Given the description of an element on the screen output the (x, y) to click on. 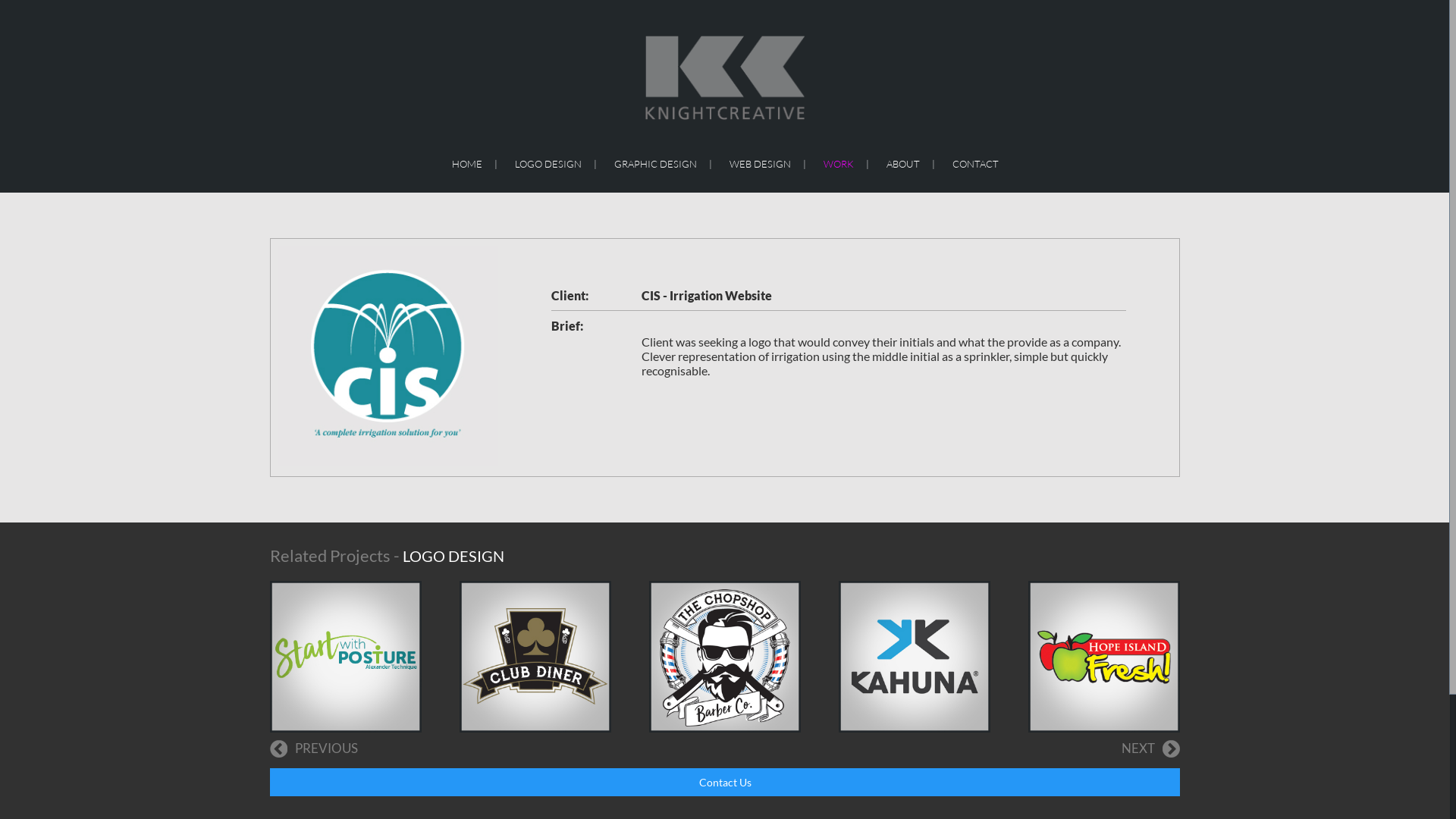
Start with Posture Element type: hover (345, 656)
Club Diner Element type: hover (535, 656)
CONTACT Element type: text (975, 163)
ABOUT Element type: text (902, 163)
The ChopShop Barber Co. Element type: hover (724, 656)
WEB DESIGN Element type: text (760, 163)
LOGO DESIGN Element type: text (547, 163)
Contact Us Element type: text (724, 782)
Kahuna Fitness Element type: hover (914, 656)
HOME Element type: text (466, 163)
WORK Element type: text (838, 163)
GRAPHIC DESIGN Element type: text (655, 163)
